Given the description of an element on the screen output the (x, y) to click on. 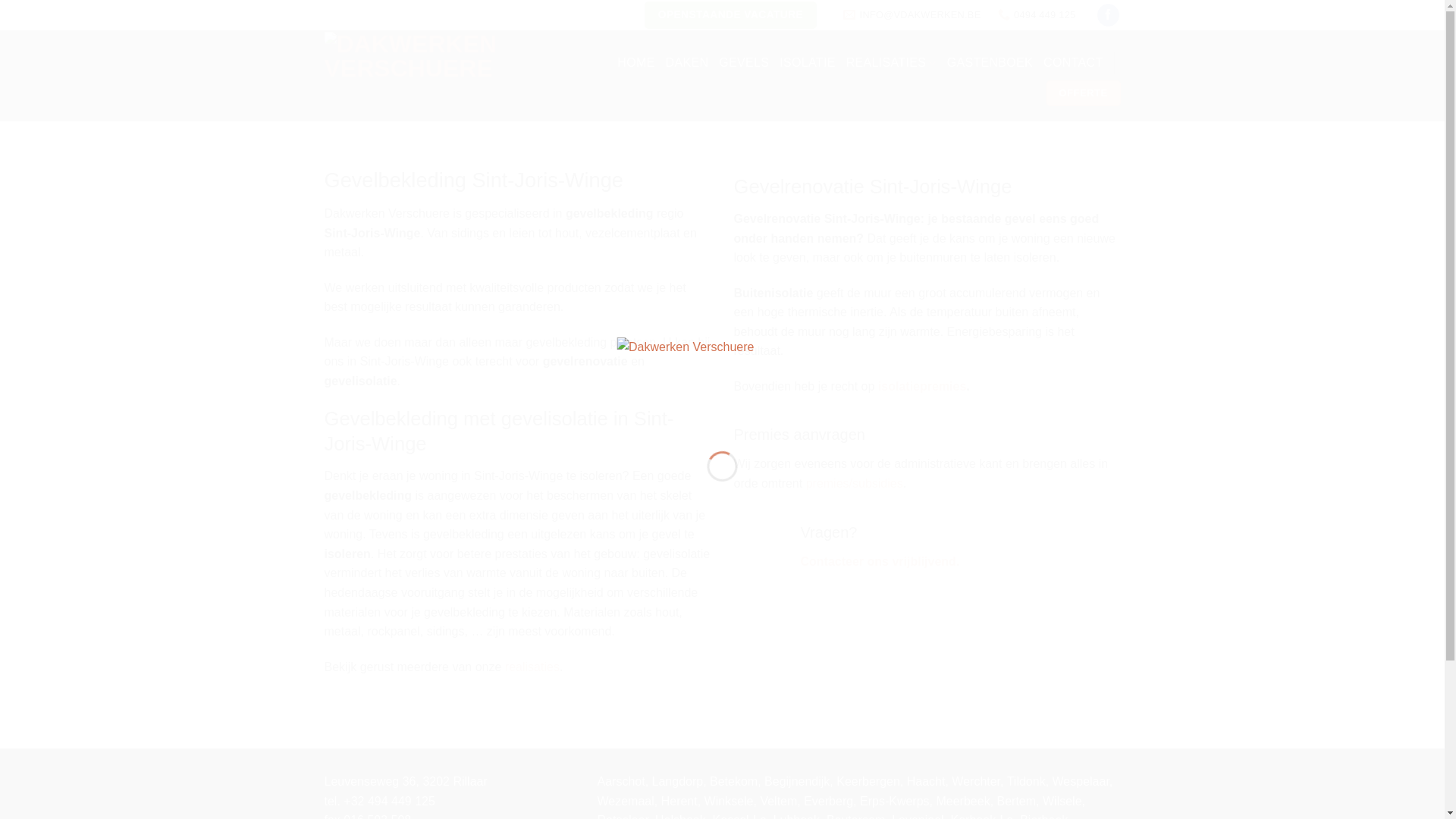
premies/subsidies Element type: text (854, 482)
+32 494 449 125 Element type: text (389, 800)
REALISATIES Element type: text (891, 62)
0494 449 125 Element type: text (1036, 14)
INFO@VDAKWERKEN.BE Element type: text (911, 14)
OPENSTAANDE VACATURE Element type: text (730, 14)
Contacteer ons vrijblijvend. Element type: text (880, 561)
GEVELS Element type: text (743, 62)
Like ons op Facebook Element type: hover (1108, 14)
HOME Element type: text (635, 62)
isolatiepremies Element type: text (922, 385)
realisaties Element type: text (532, 666)
DAKEN Element type: text (687, 62)
OFFERTE Element type: text (1083, 93)
GASTENBOEK Element type: text (989, 62)
CONTACT Element type: text (1072, 62)
ISOLATIE Element type: text (806, 62)
